Given the description of an element on the screen output the (x, y) to click on. 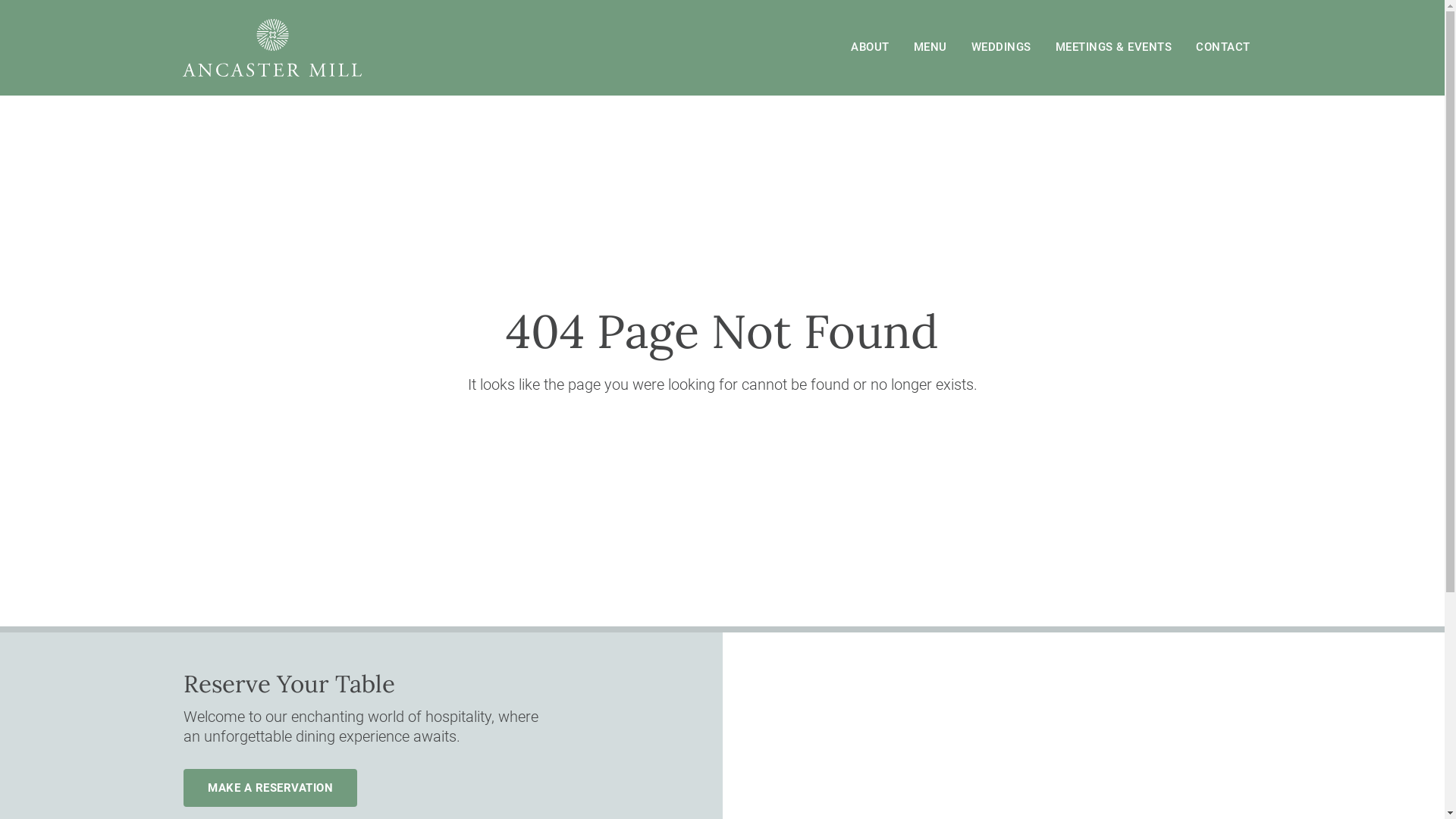
MENU Element type: text (930, 47)
MEETINGS & EVENTS Element type: text (1113, 47)
WEDDINGS Element type: text (1001, 47)
MAKE A RESERVATION Element type: text (270, 787)
ABOUT Element type: text (869, 47)
CONTACT Element type: text (1222, 47)
